Given the description of an element on the screen output the (x, y) to click on. 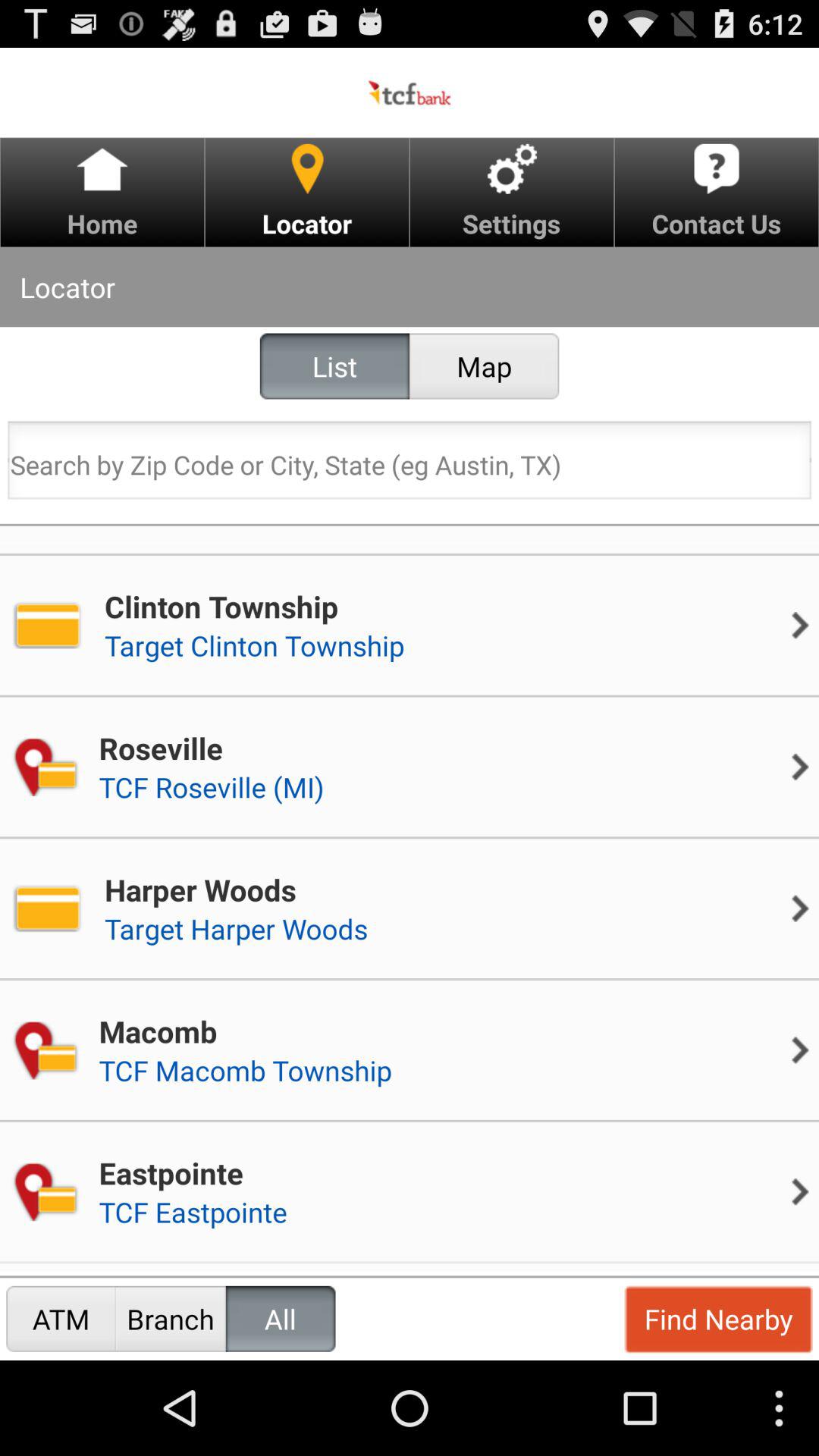
flip to list radio button (334, 366)
